Given the description of an element on the screen output the (x, y) to click on. 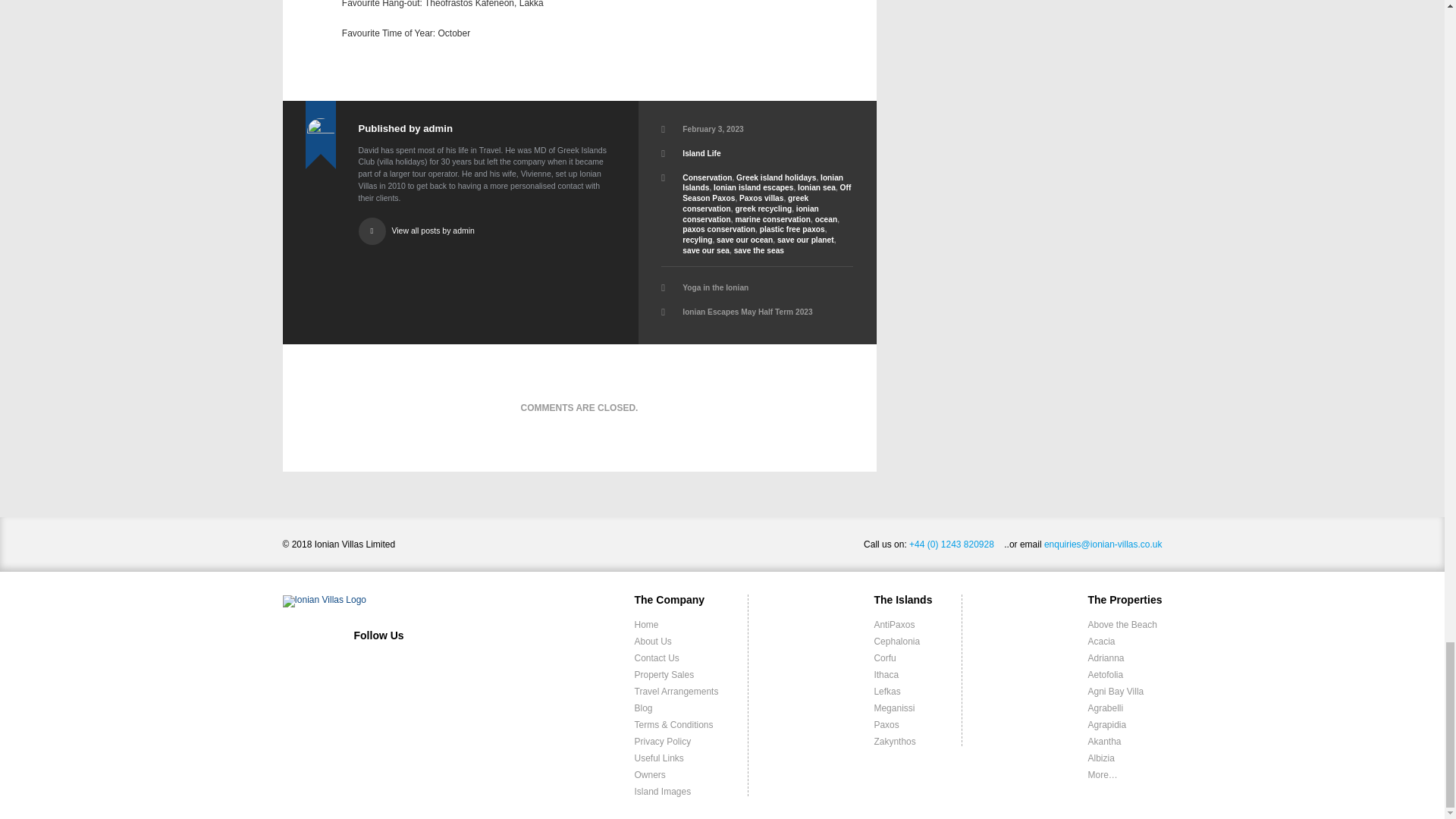
Ionian Islands (762, 182)
Paxos villas (761, 198)
Ionian island escapes (753, 187)
Ionian sea (816, 187)
Greek island holidays (775, 177)
Island Life (701, 153)
Off Season Paxos (766, 192)
Conservation (707, 177)
View all posts by admin (486, 223)
